Given the description of an element on the screen output the (x, y) to click on. 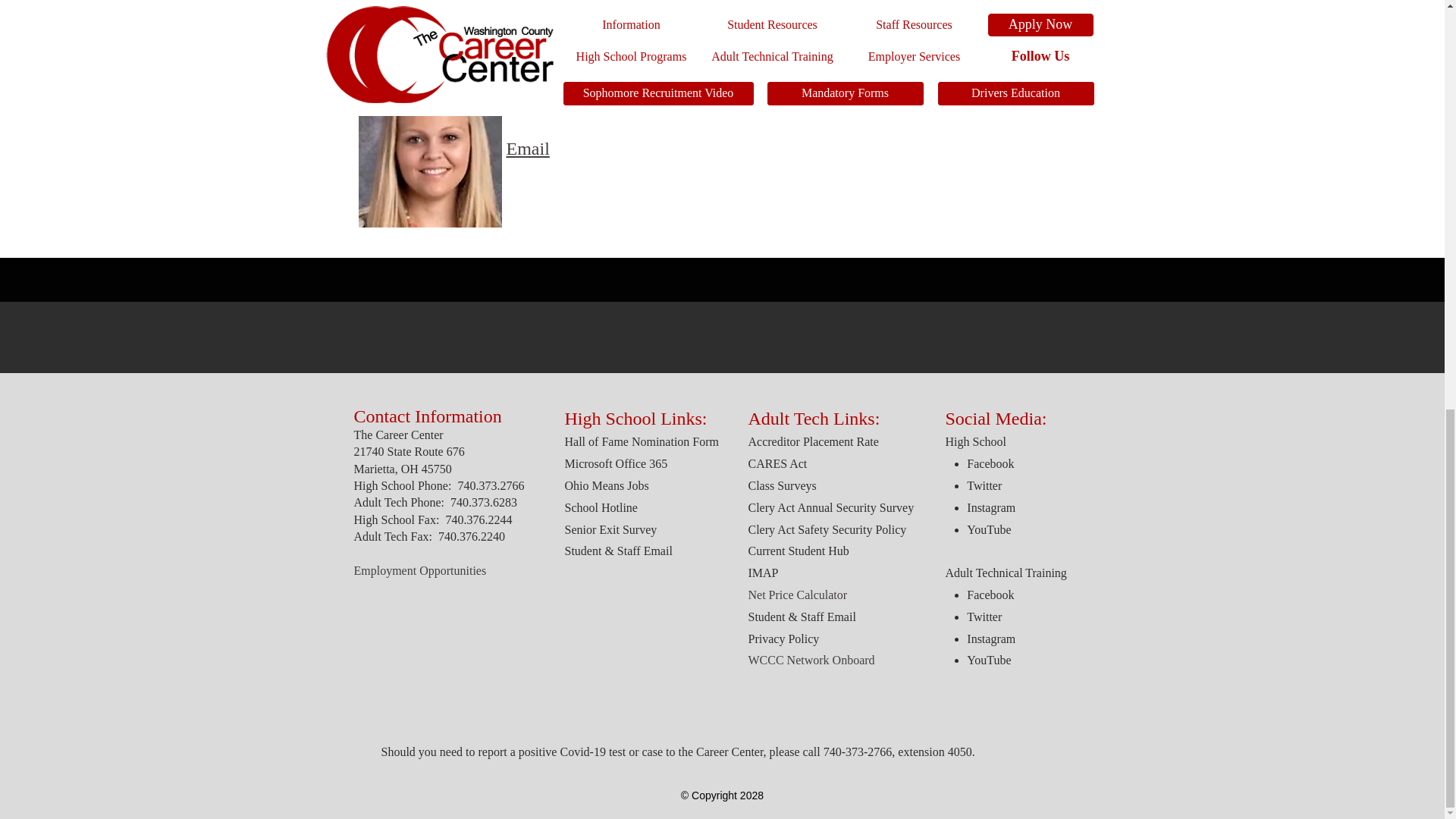
Adult Technical Training (1004, 572)
Privacy Policy (783, 638)
Twitter (983, 485)
Class Surveys (781, 485)
Twitter (983, 616)
Clery Act Annual Security Survey (831, 507)
Microsoft Office 365 (615, 463)
Current Student Hub (798, 550)
Facebook (989, 594)
Email (528, 148)
